Given the description of an element on the screen output the (x, y) to click on. 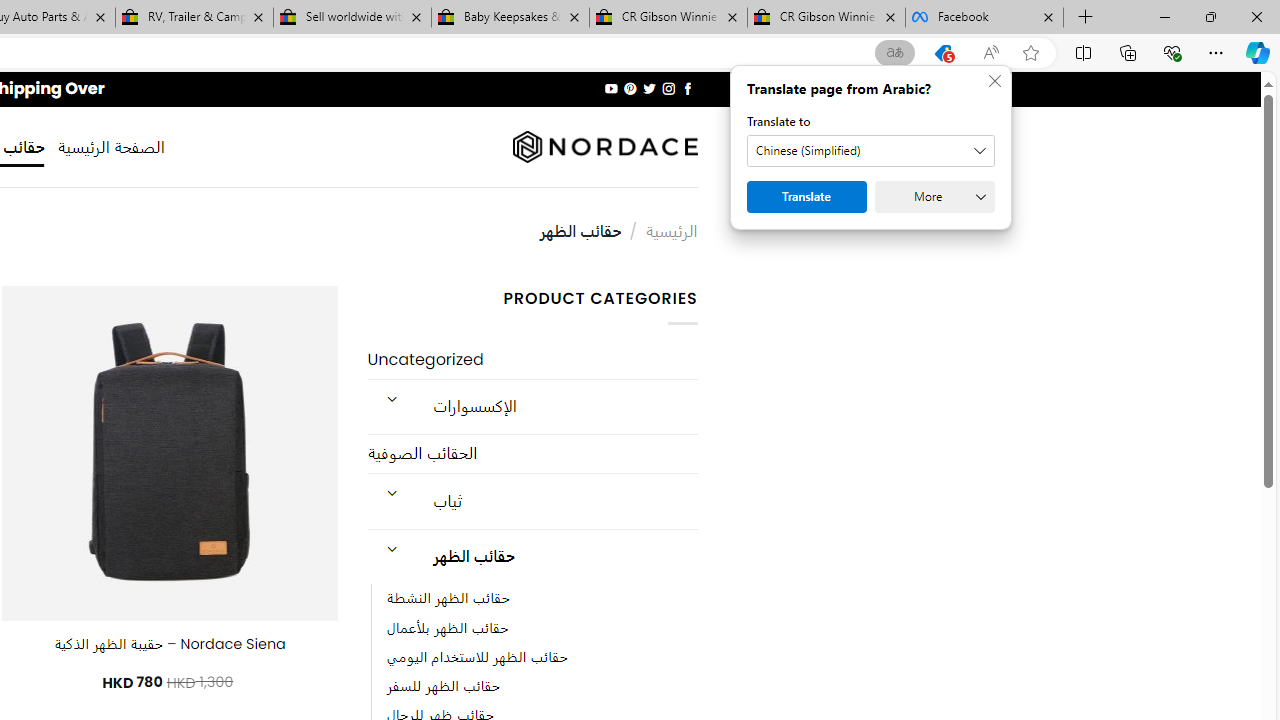
Follow on Pinterest (630, 88)
Uncategorized (532, 359)
Baby Keepsakes & Announcements for sale | eBay (509, 17)
Show translate options (895, 53)
Sell worldwide with eBay (352, 17)
This site has coupons! Shopping in Microsoft Edge, 5 (943, 53)
